Given the description of an element on the screen output the (x, y) to click on. 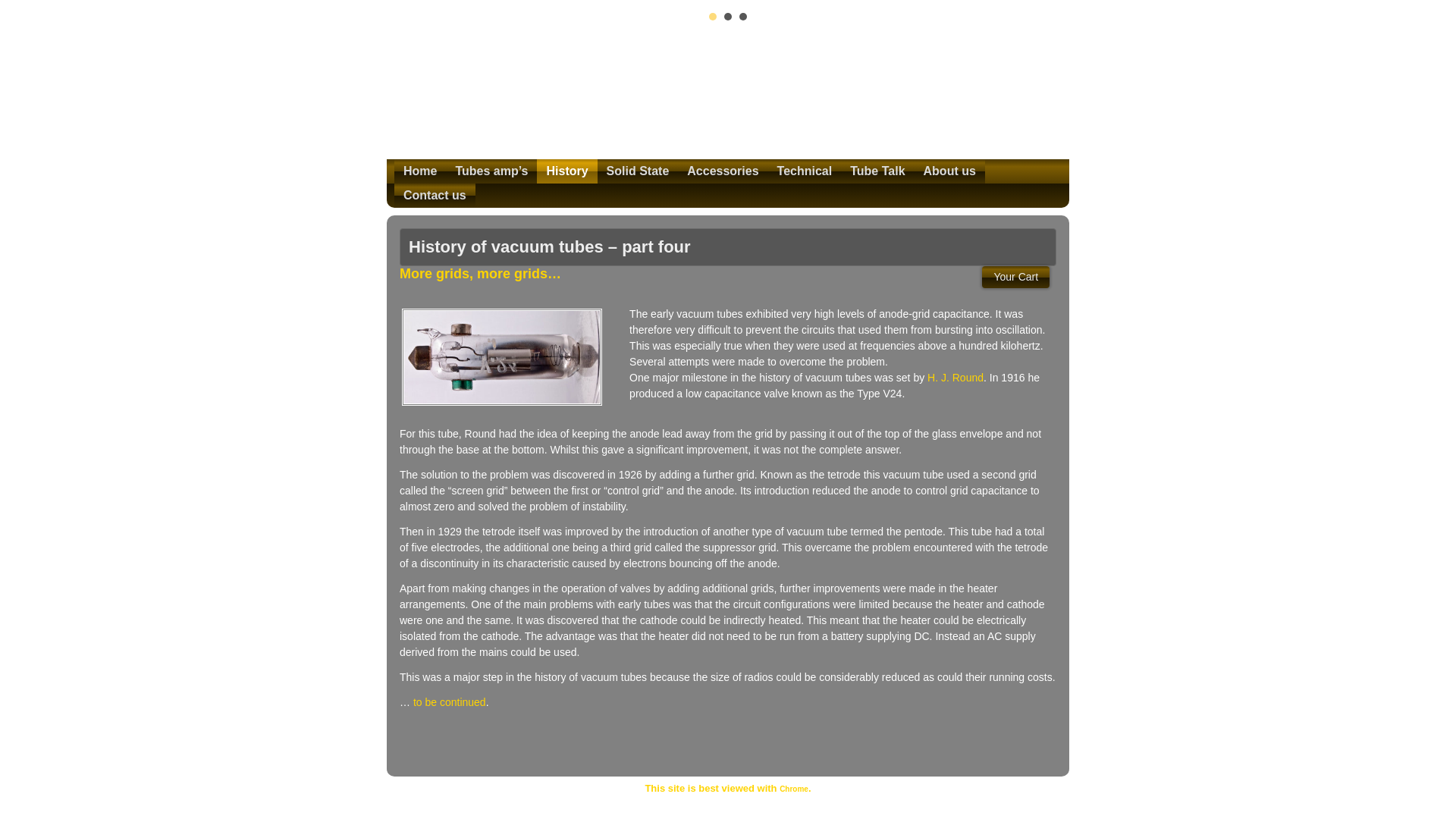
Contact us (435, 195)
History (566, 170)
H. J. Round (955, 377)
Chrome (793, 788)
About us (949, 170)
Accessories (722, 170)
to be continued (449, 702)
Home (419, 170)
Your Cart (1015, 277)
Technical (804, 170)
Solid State (637, 170)
Tube Talk (877, 170)
Round's V24. (501, 356)
